Given the description of an element on the screen output the (x, y) to click on. 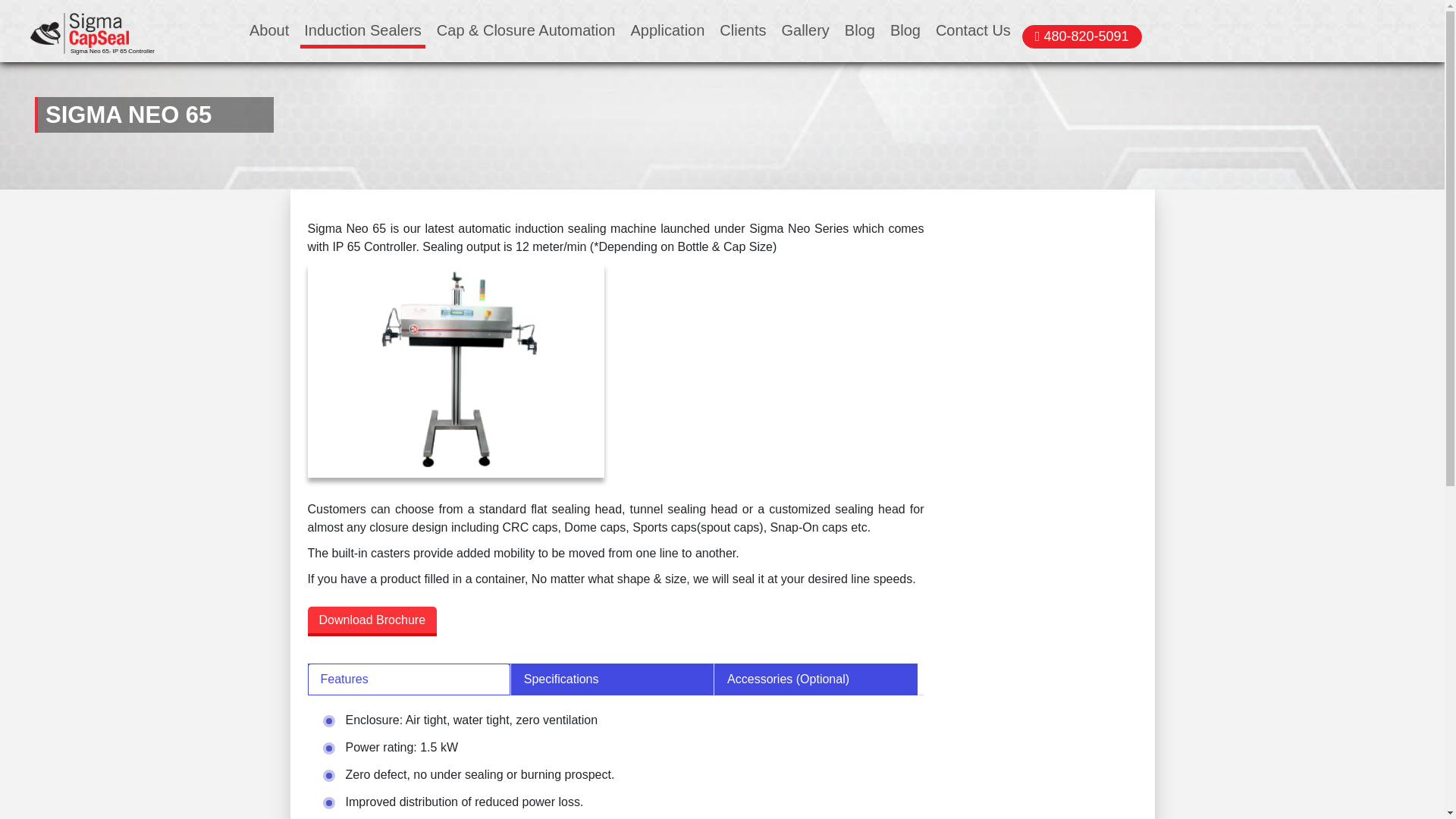
Blog (860, 29)
Gallery (804, 29)
Blog (905, 29)
Contact Us (972, 29)
Sigma Neo 65- IP 65 Controller (79, 33)
Clients (743, 29)
Features (409, 679)
Induction Sealers (362, 29)
Induction cap sealing solution (456, 370)
Induction cap sealing solution (79, 33)
480-820-5091 (1081, 36)
About (269, 29)
Download Brochure (372, 621)
Application (666, 29)
